Given the description of an element on the screen output the (x, y) to click on. 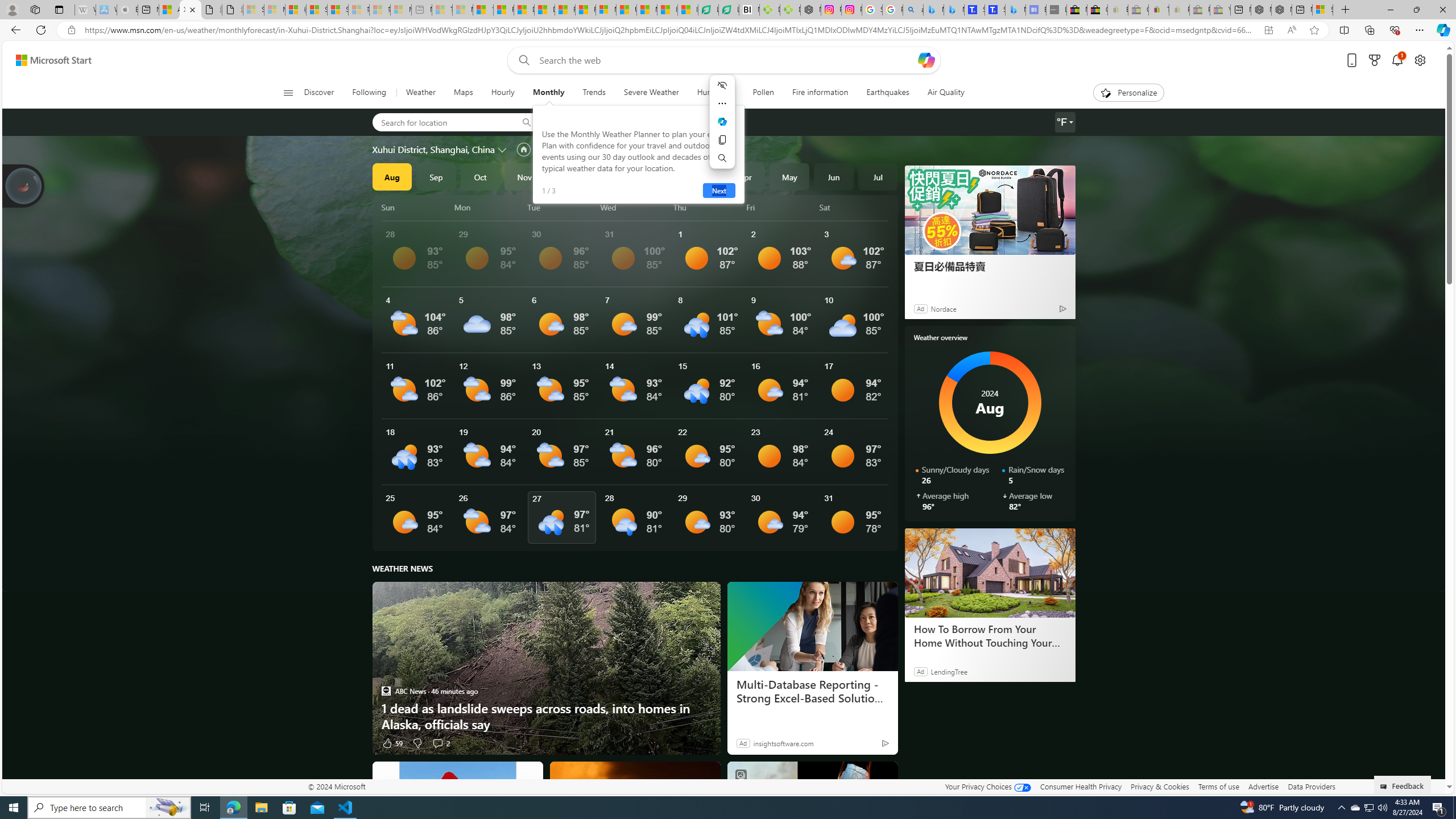
Sat (853, 207)
Privacy & Cookies (1160, 785)
May (789, 176)
Microsoft Bing Travel - Shangri-La Hotel Bangkok (1015, 9)
Hurricanes (716, 92)
How To Borrow From Your Home Without Touching Your Mortgage (989, 572)
Aug (391, 176)
Nov (523, 176)
